Given the description of an element on the screen output the (x, y) to click on. 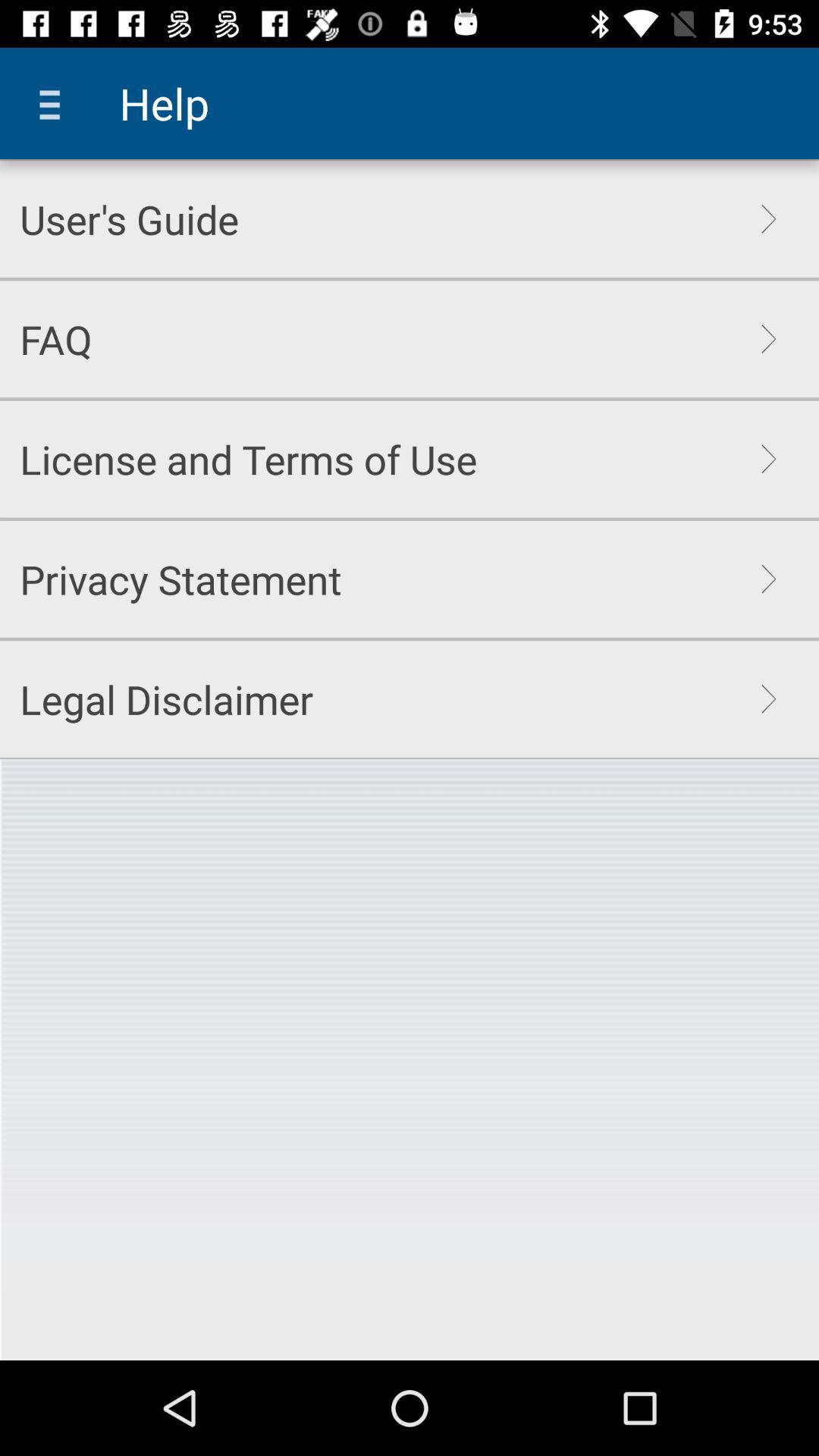
open item next to the help icon (55, 103)
